Given the description of an element on the screen output the (x, y) to click on. 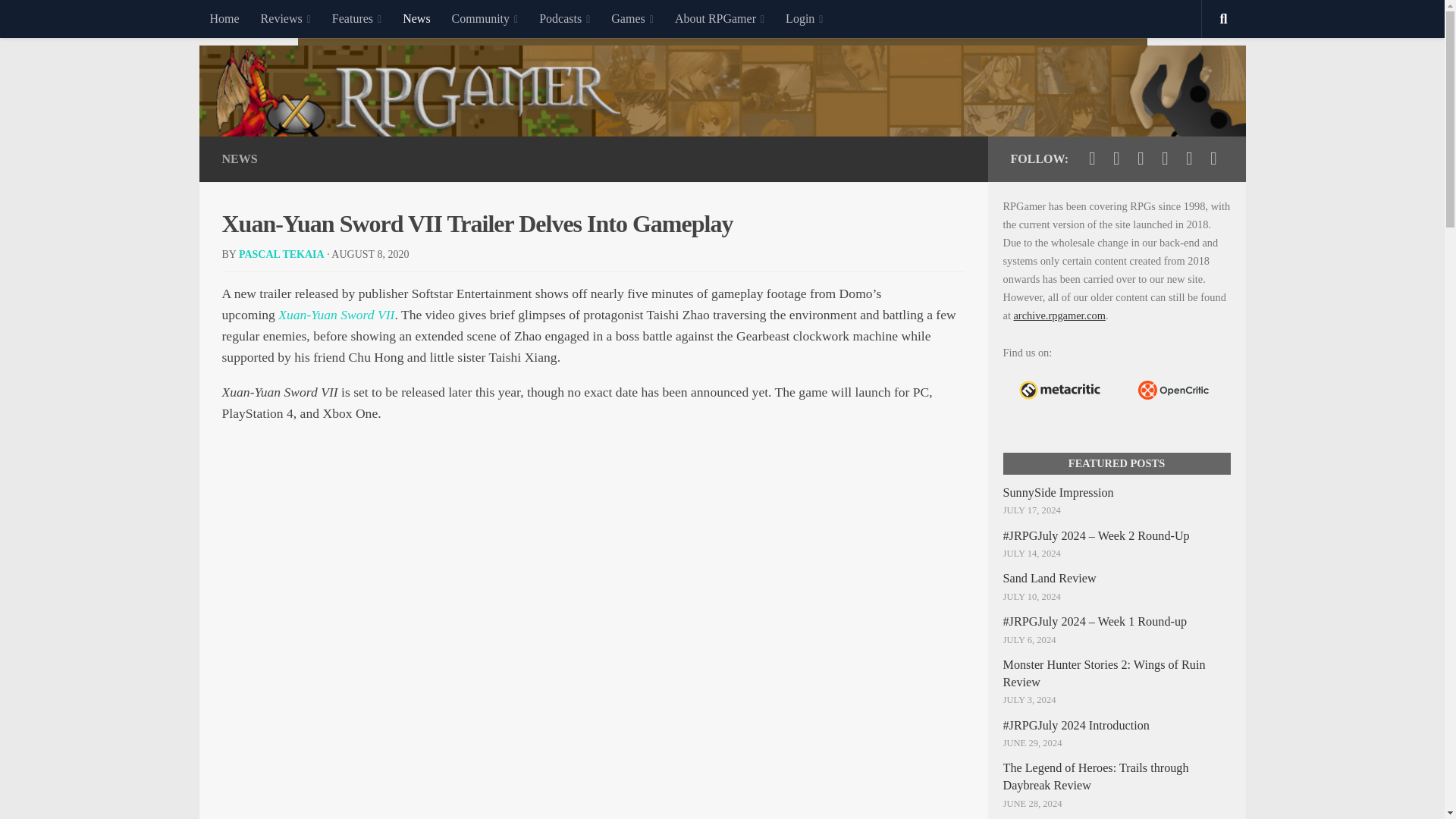
Skip to content (59, 20)
Follow us on Facebook (1115, 158)
Follow us on Twitter (1091, 158)
Posts by Pascal Tekaia (281, 254)
